Given the description of an element on the screen output the (x, y) to click on. 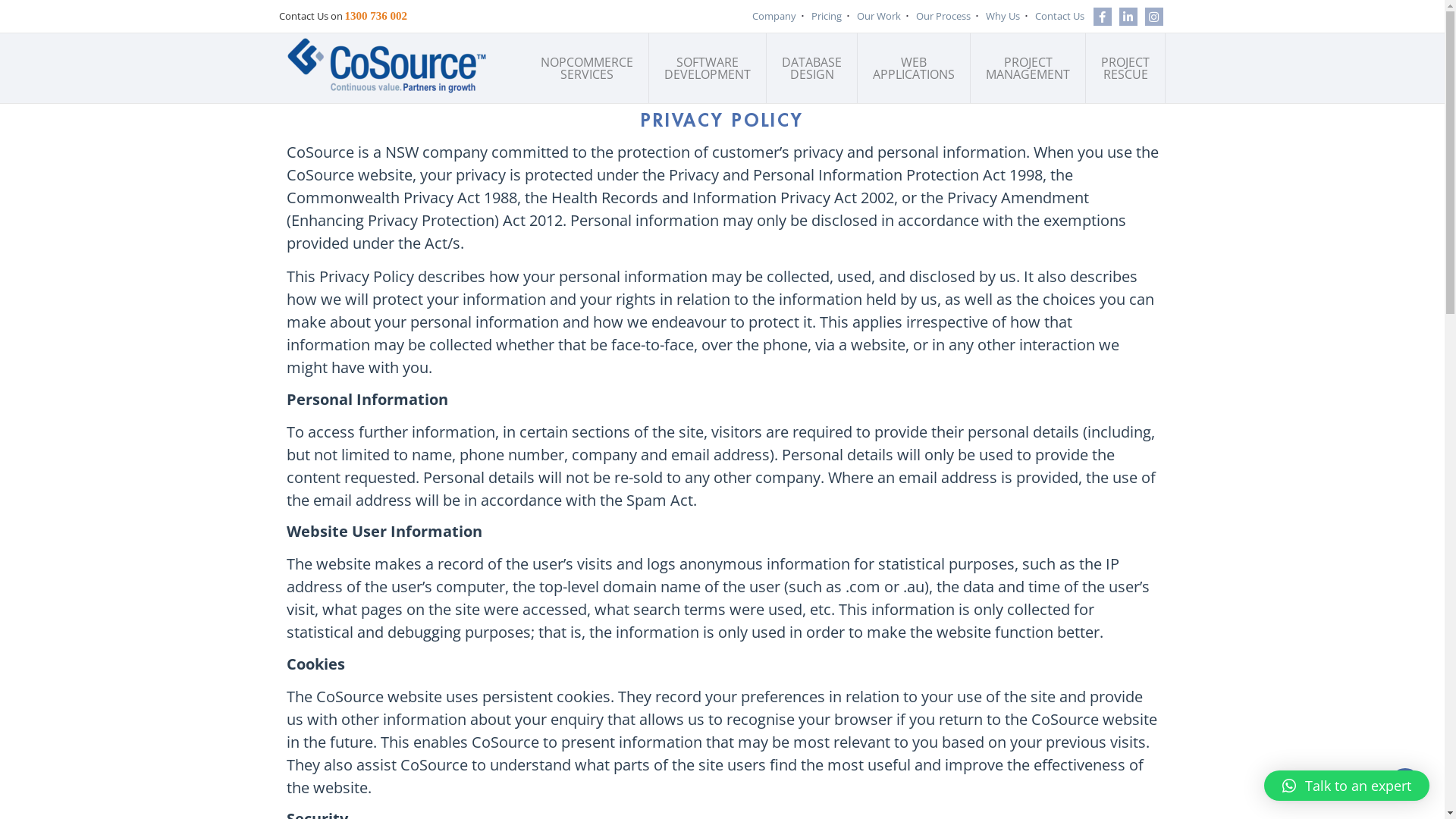
PROJECT
MANAGEMENT Element type: text (1027, 68)
NOPCOMMERCE
SERVICES Element type: text (587, 68)
Company Element type: text (773, 16)
WEB
APPLICATIONS Element type: text (913, 68)
DATABASE
DESIGN Element type: text (811, 68)
Pricing Element type: text (826, 16)
Our Process Element type: text (943, 16)
PROJECT
RESCUE Element type: text (1125, 68)
Our Work Element type: text (878, 16)
Why Us Element type: text (1002, 16)
Talk to an expert Element type: text (1346, 785)
SOFTWARE
DEVELOPMENT Element type: text (707, 68)
Contact Us Element type: text (1059, 16)
